Given the description of an element on the screen output the (x, y) to click on. 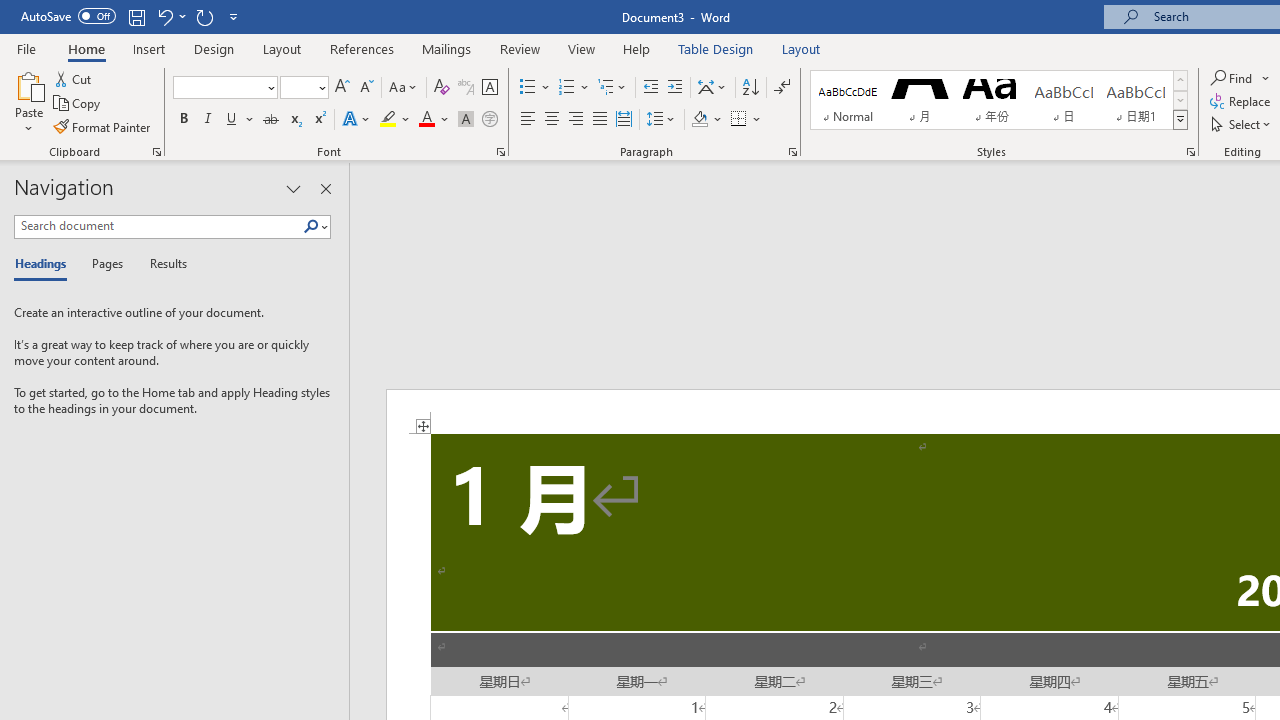
Asian Layout (712, 87)
Line and Paragraph Spacing (661, 119)
Shading RGB(0, 0, 0) (699, 119)
Font Color (434, 119)
Shading (706, 119)
Task Pane Options (293, 188)
Paragraph... (792, 151)
Distributed (623, 119)
View (582, 48)
Character Border (489, 87)
